Given the description of an element on the screen output the (x, y) to click on. 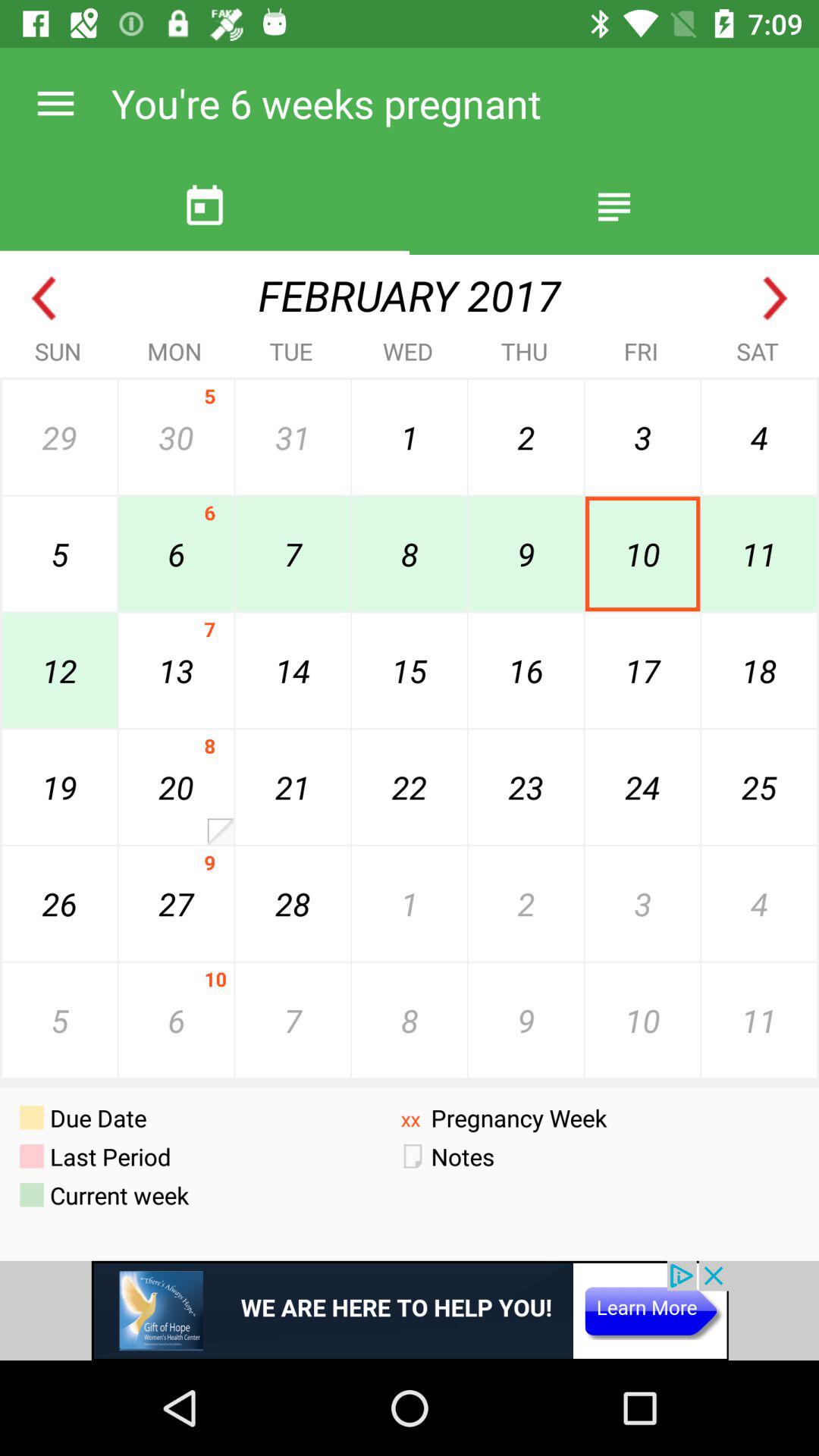
look at next month (775, 298)
